Given the description of an element on the screen output the (x, y) to click on. 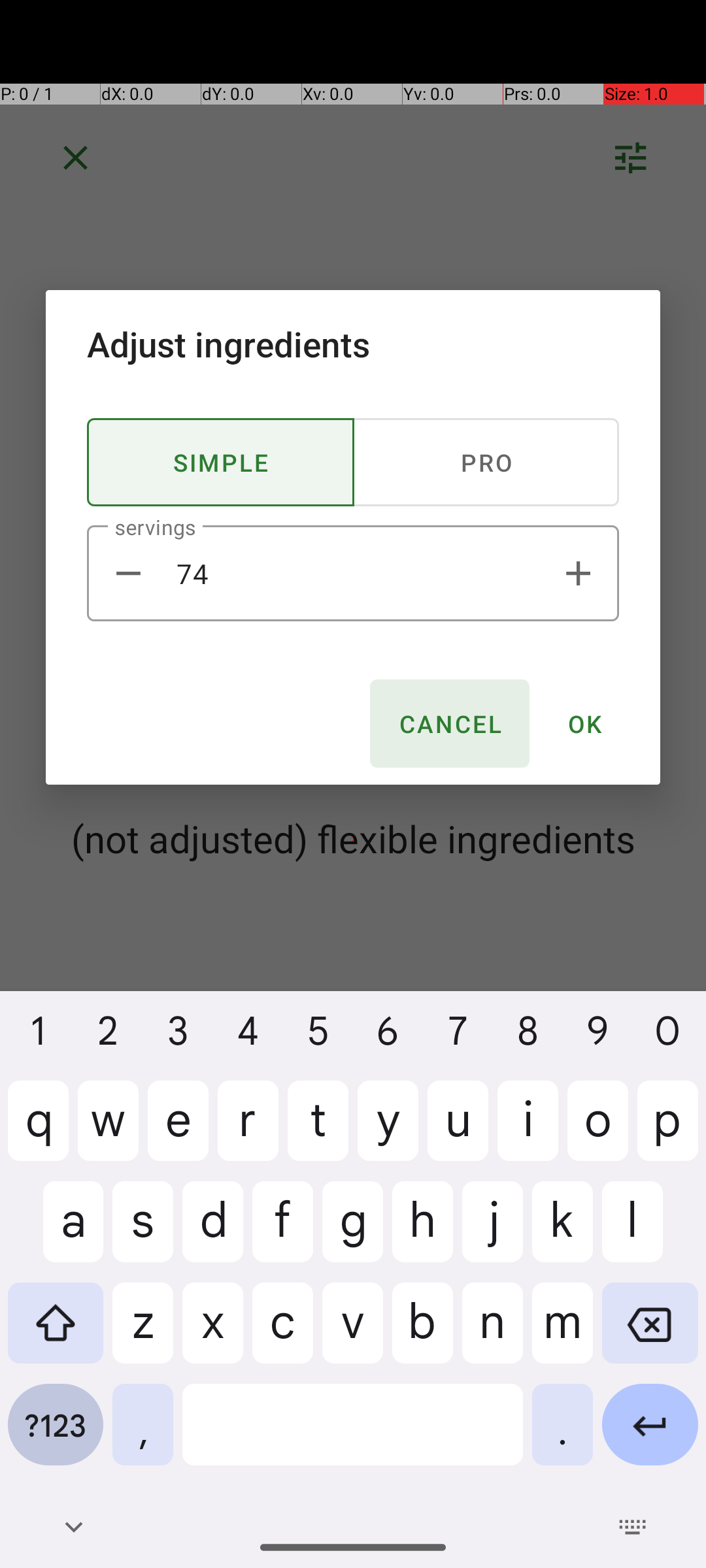
Adjust ingredients Element type: android.widget.TextView (352, 343)
74 Element type: android.widget.EditText (352, 573)
SIMPLE Element type: android.widget.CompoundButton (220, 462)
PRO Element type: android.widget.CompoundButton (485, 462)
